Given the description of an element on the screen output the (x, y) to click on. 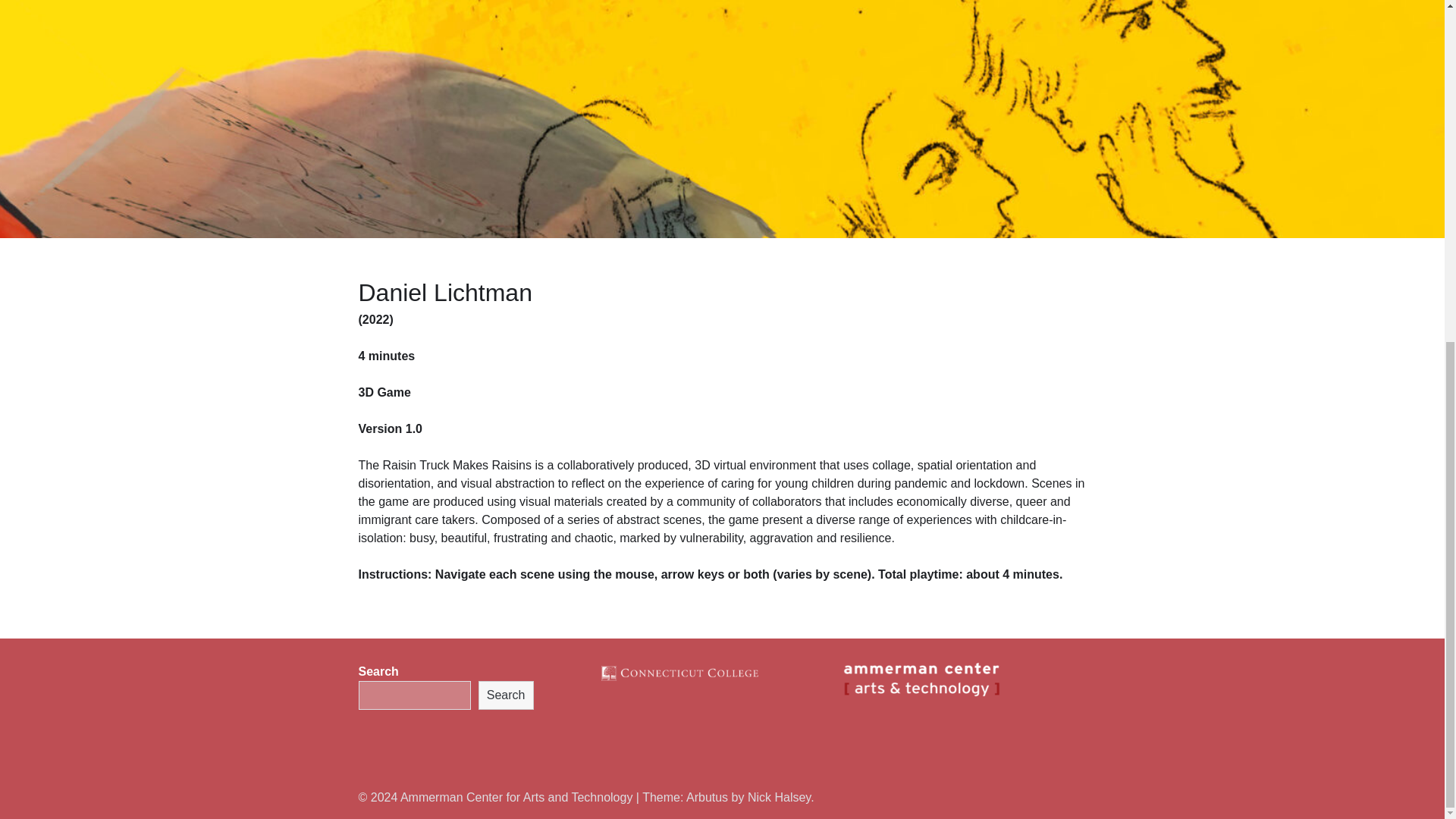
Ammerman Center for Arts and Technology (516, 797)
Search (506, 695)
Nick Halsey (779, 797)
